Given the description of an element on the screen output the (x, y) to click on. 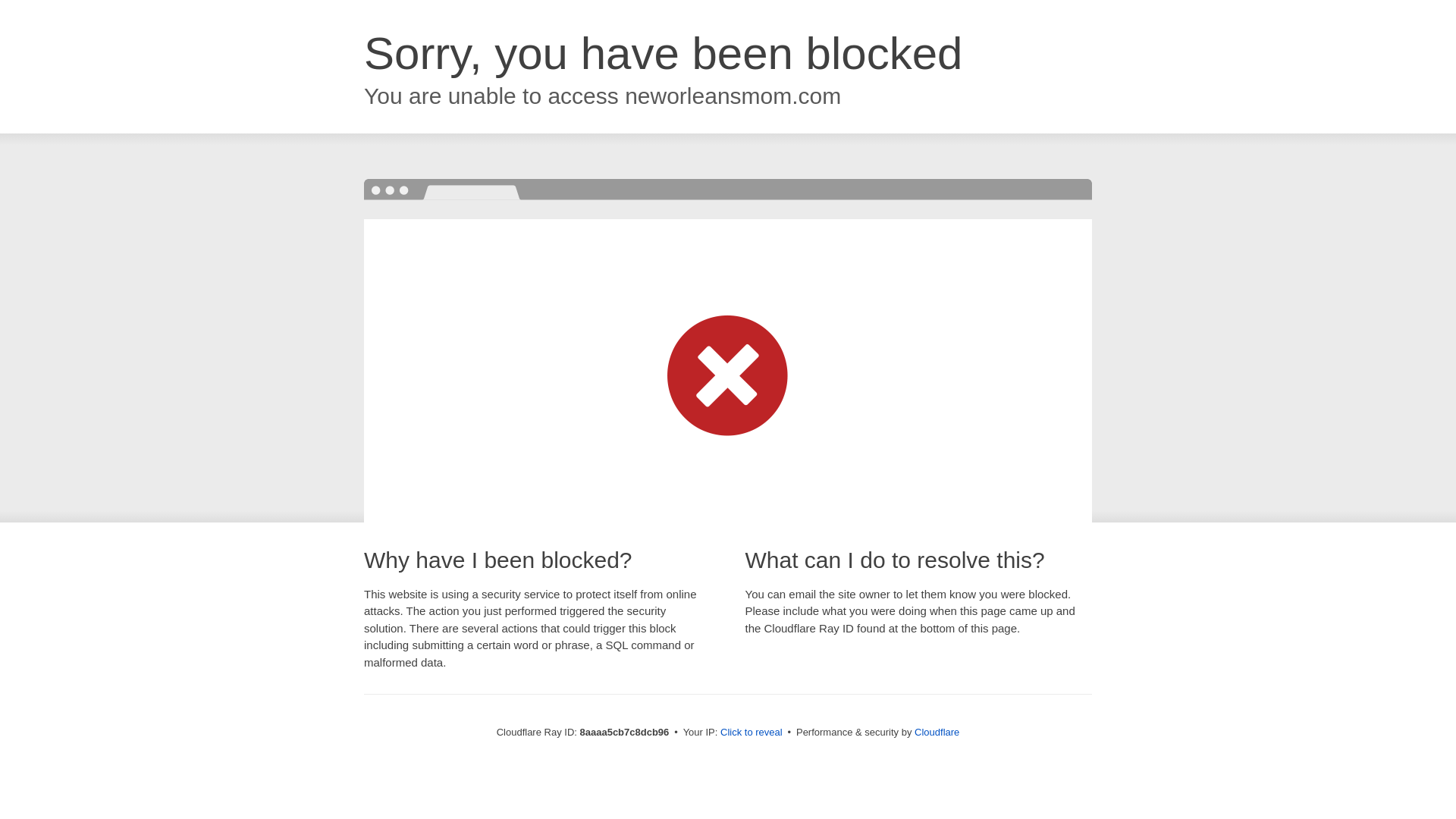
Cloudflare (936, 731)
Click to reveal (751, 732)
